Given the description of an element on the screen output the (x, y) to click on. 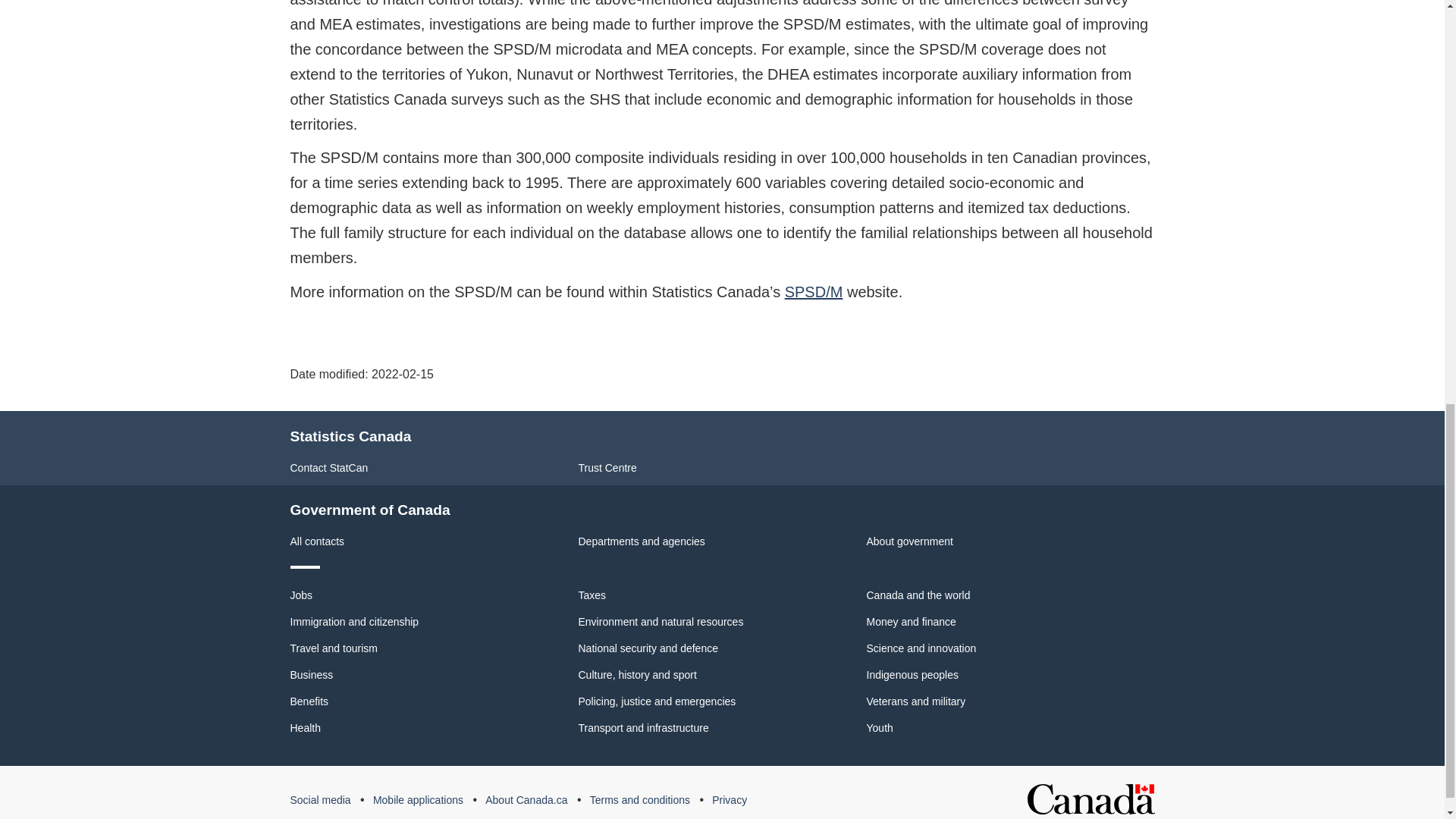
About government (909, 541)
Health (304, 727)
Contact StatCan (328, 467)
Immigration and citizenship (354, 621)
Travel and tourism (333, 648)
Benefits (309, 701)
National security and defence (647, 648)
Trust Centre (607, 467)
Taxes (591, 594)
All contacts (316, 541)
